Given the description of an element on the screen output the (x, y) to click on. 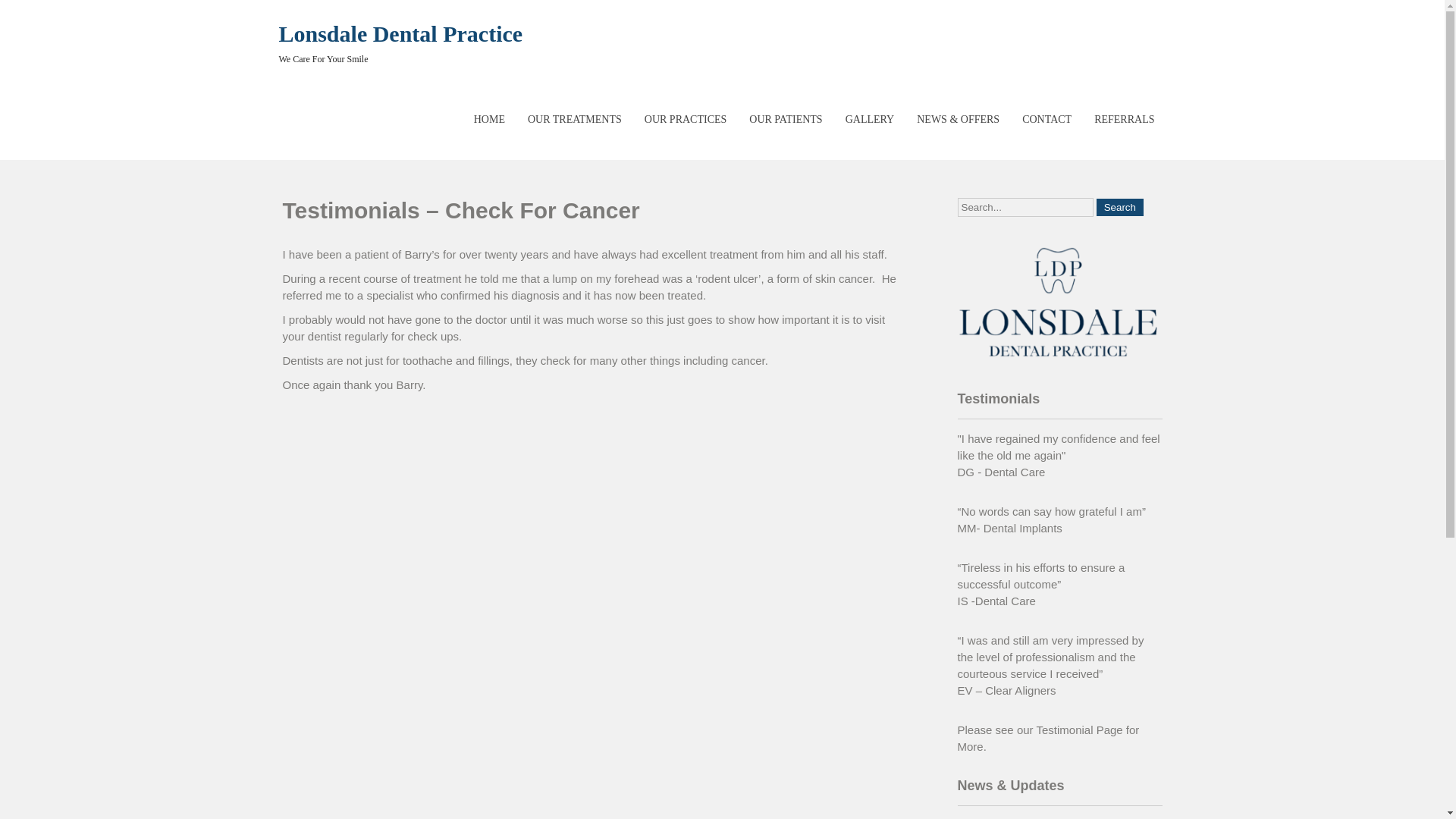
Lonsdale Dental Practice (400, 33)
Search (1119, 207)
HOME (488, 119)
Search (1119, 207)
OUR TREATMENTS (573, 119)
